Given the description of an element on the screen output the (x, y) to click on. 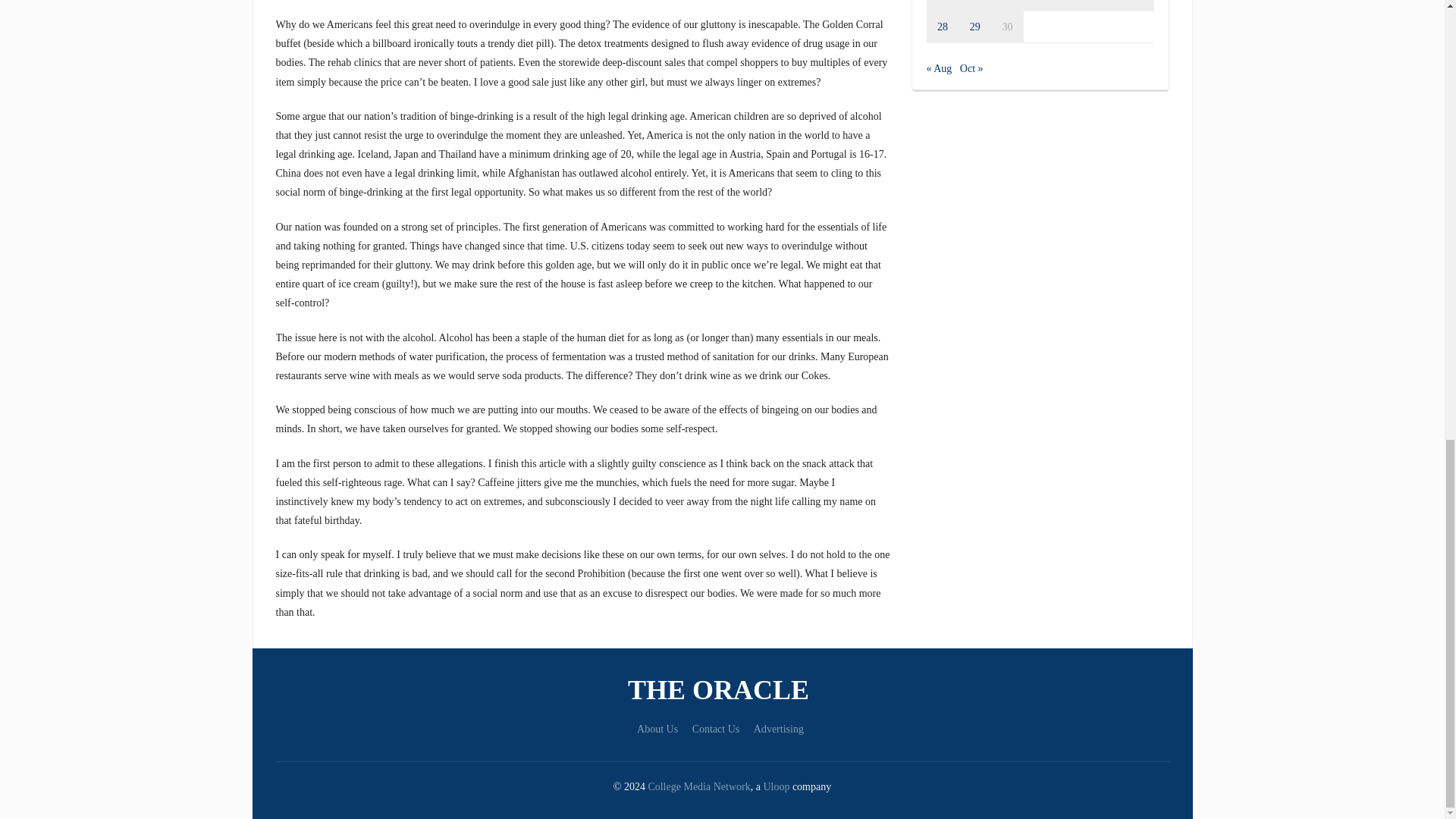
Advertising (778, 728)
About Us (657, 728)
Where Golden Eagles Fly For News (721, 689)
Contact Us (716, 728)
Uloop (775, 786)
College Media Network (698, 786)
THE ORACLE (721, 689)
29 (974, 26)
